Given the description of an element on the screen output the (x, y) to click on. 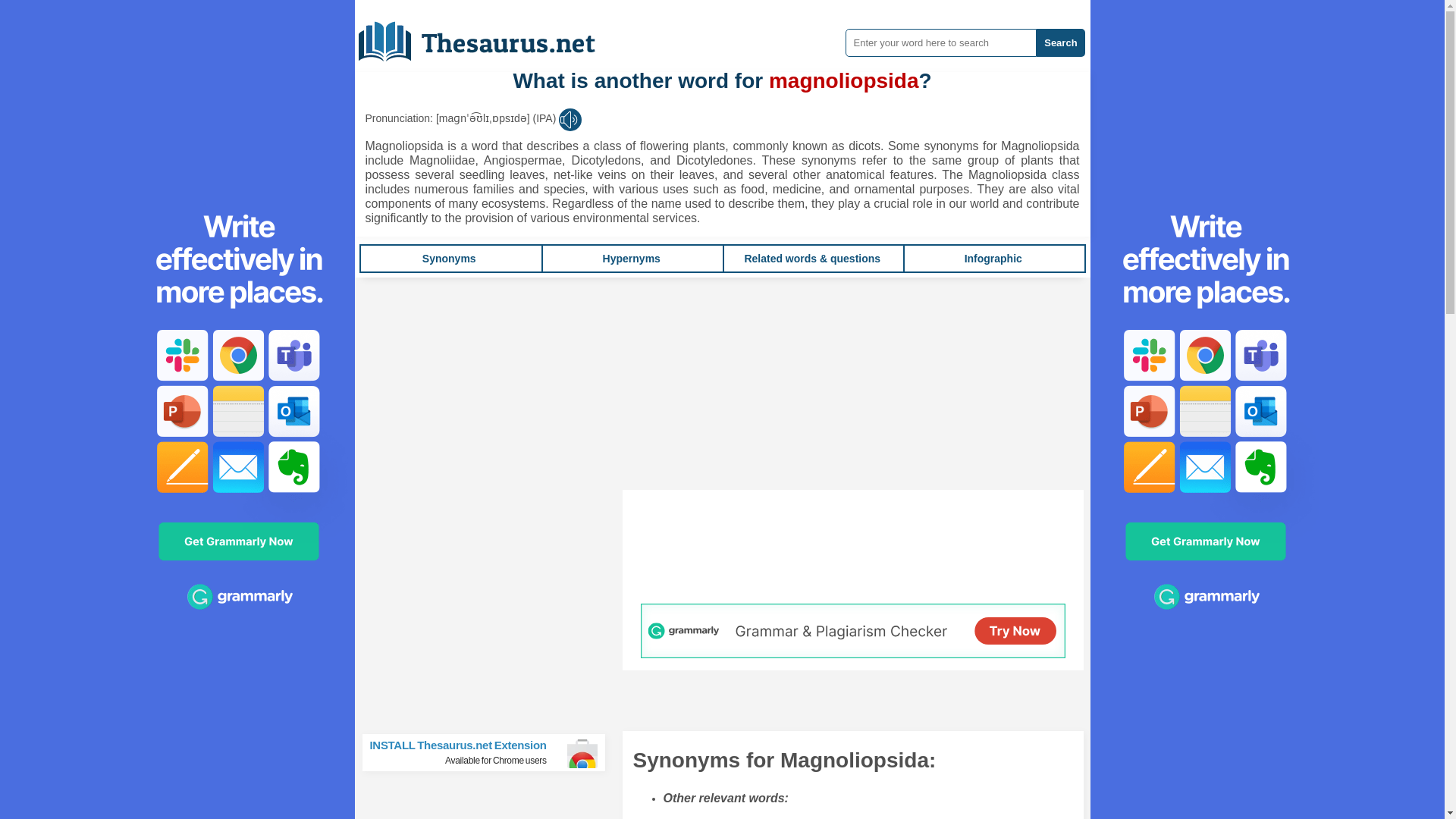
Hypernyms (489, 752)
Search (631, 258)
Infographic (1060, 42)
Synonyms (992, 258)
Hypernyms (449, 258)
Synonyms (631, 258)
Infographic (449, 258)
Thesaurus.net (992, 258)
